Given the description of an element on the screen output the (x, y) to click on. 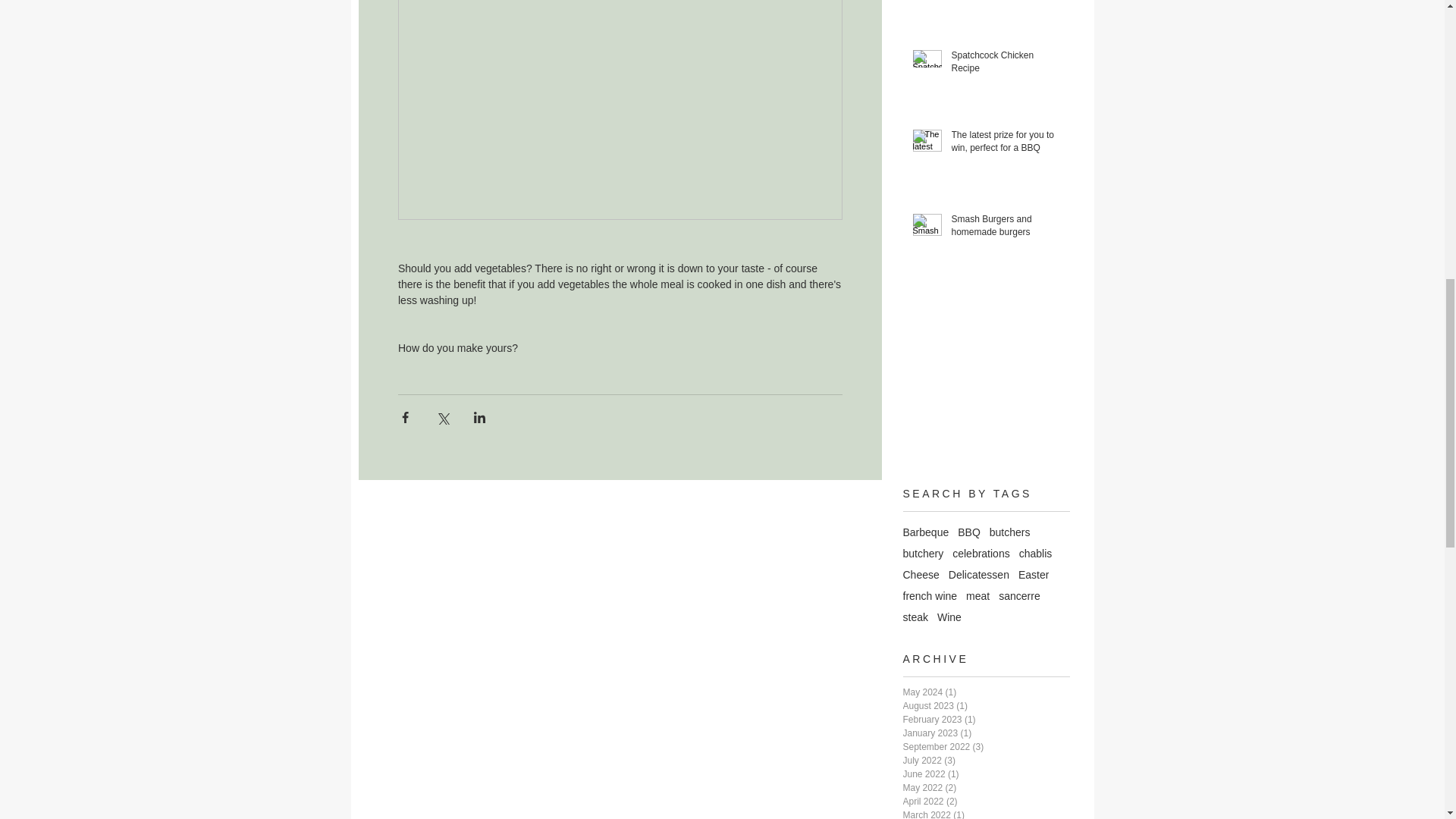
butchers (1010, 532)
The latest prize for you to win, perfect for a BBQ (1004, 144)
celebrations (981, 553)
Smash Burgers and homemade burgers (1004, 228)
BBQ (968, 532)
butchery (922, 553)
Spatchcock Chicken Recipe (1004, 65)
Barbeque (925, 532)
